Given the description of an element on the screen output the (x, y) to click on. 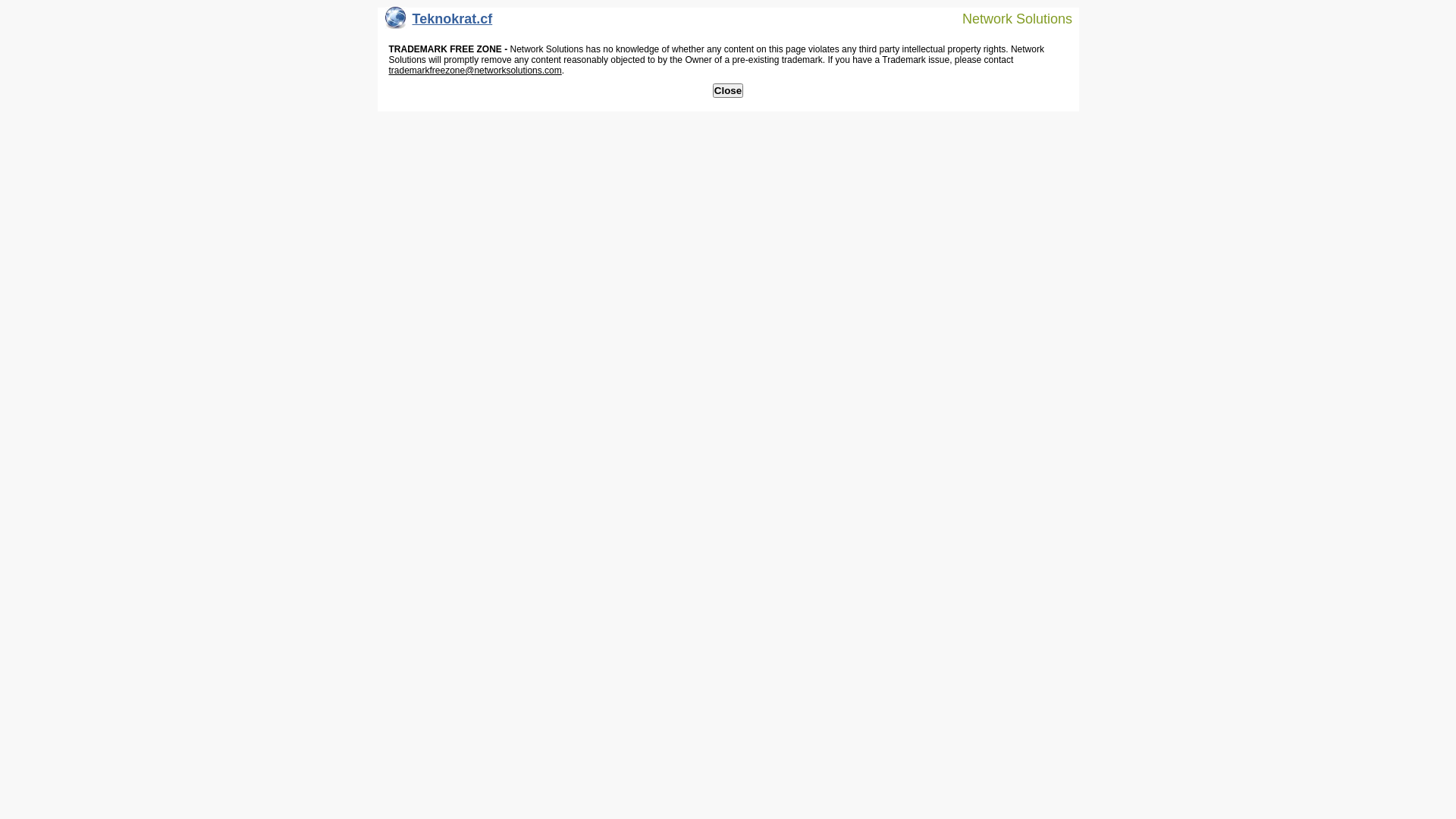
Close Element type: text (727, 90)
Network Solutions Element type: text (1007, 17)
trademarkfreezone@networksolutions.com Element type: text (474, 70)
Teknokrat.cf Element type: text (438, 21)
